Given the description of an element on the screen output the (x, y) to click on. 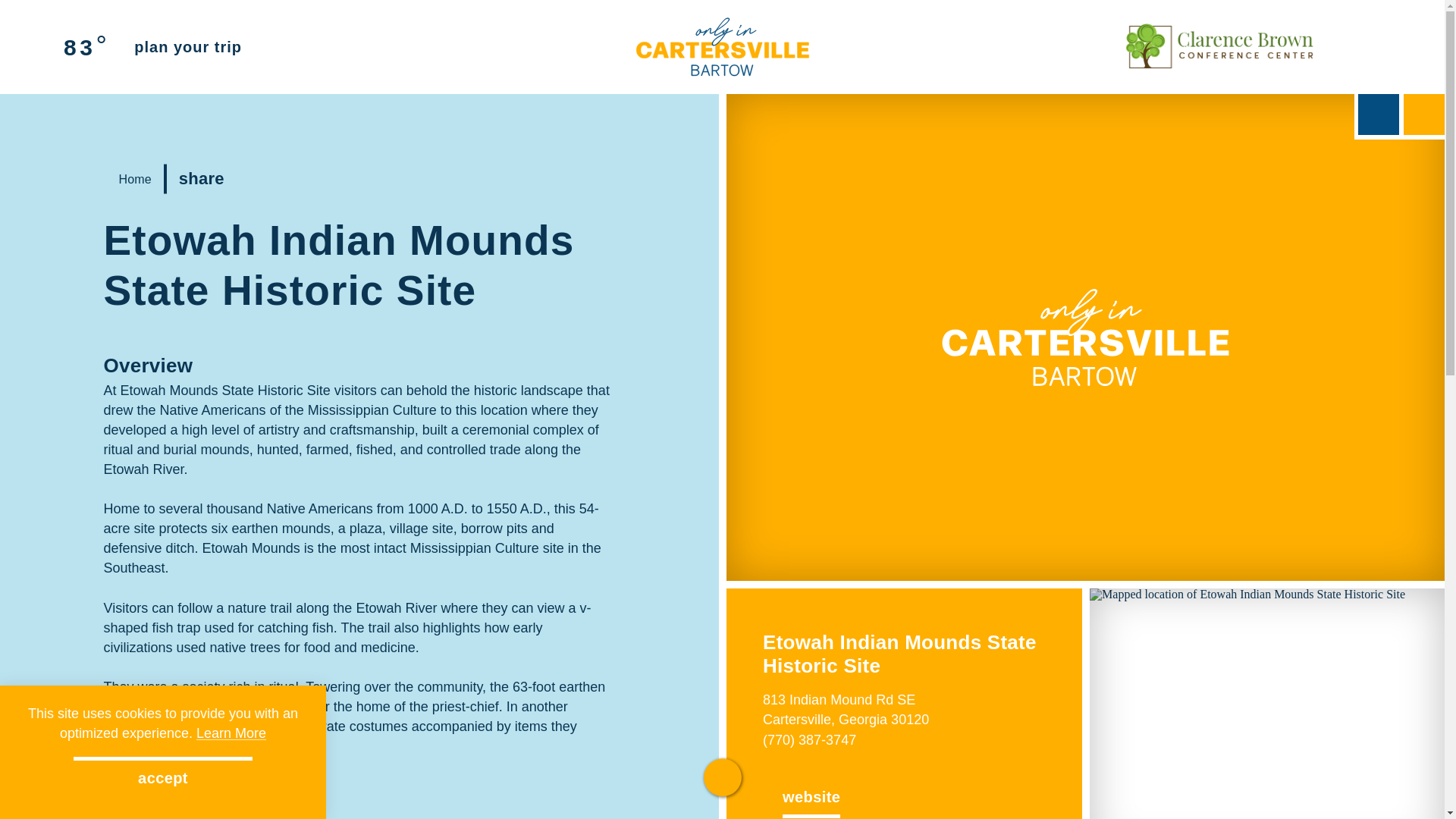
website (810, 796)
Learn More (231, 733)
accept (162, 777)
share (213, 178)
Amenities (148, 800)
Skip to content (17, 15)
plan your trip (187, 46)
Home (130, 178)
